Given the description of an element on the screen output the (x, y) to click on. 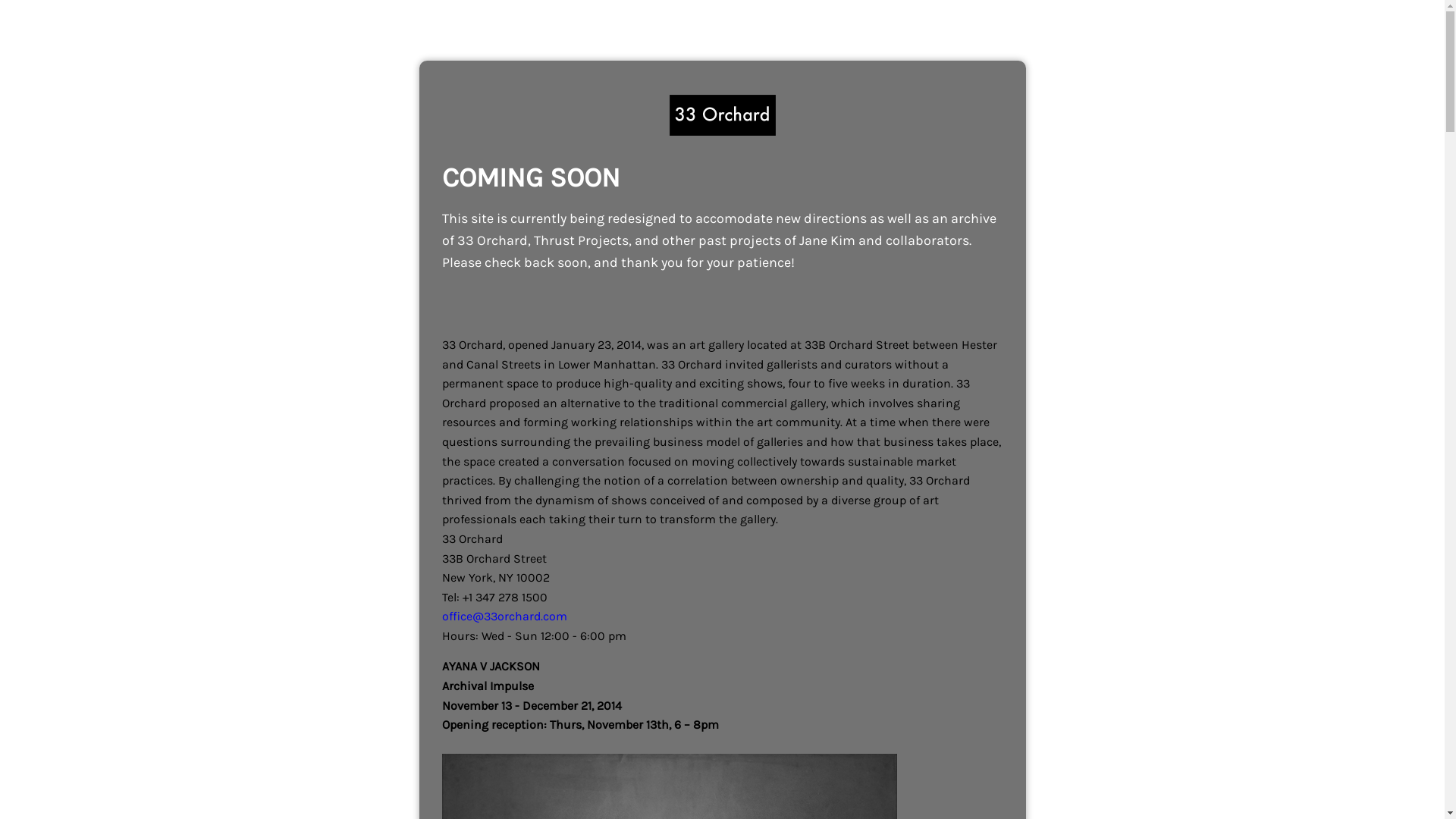
office@33orchard.com Element type: text (503, 615)
33orchard.com Element type: hover (721, 114)
